Given the description of an element on the screen output the (x, y) to click on. 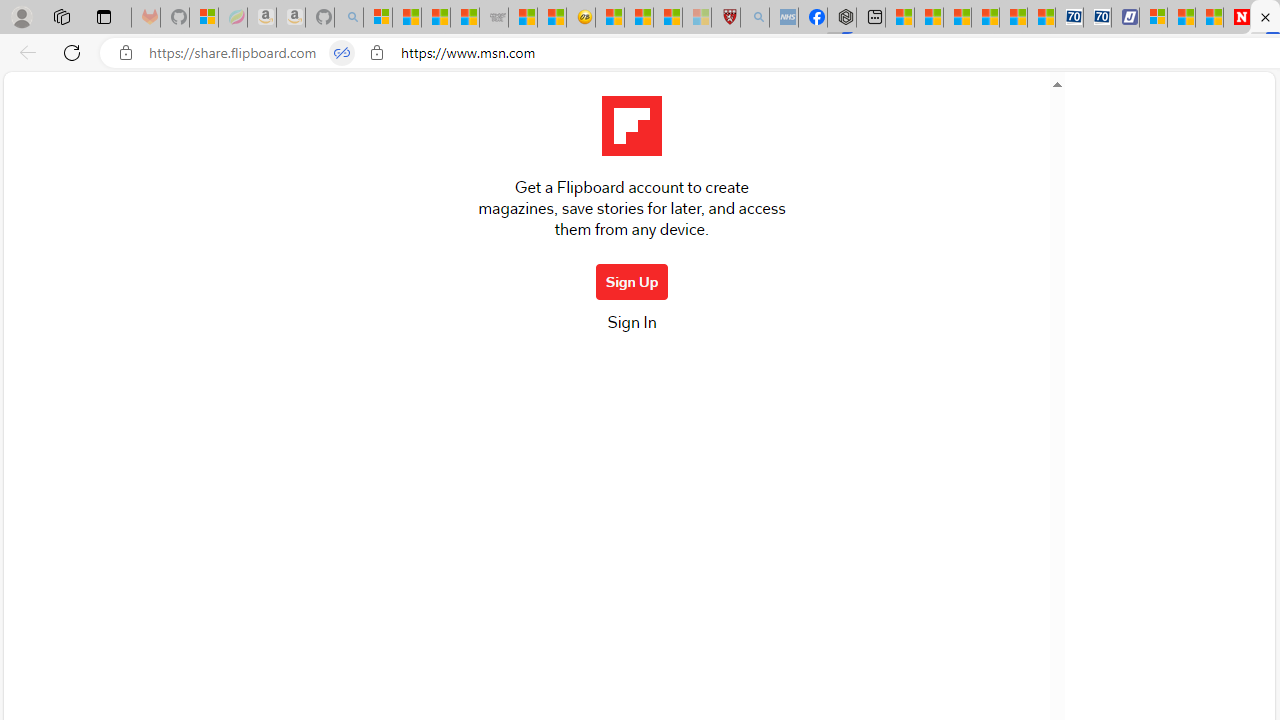
Stocks - MSN (464, 17)
Microsoft-Report a Concern to Bing (203, 17)
12 Popular Science Lies that Must be Corrected - Sleeping (696, 17)
NCL Adult Asthma Inhaler Choice Guideline - Sleeping (783, 17)
Tabs in split screen (341, 53)
MSNBC - MSN (436, 17)
